Given the description of an element on the screen output the (x, y) to click on. 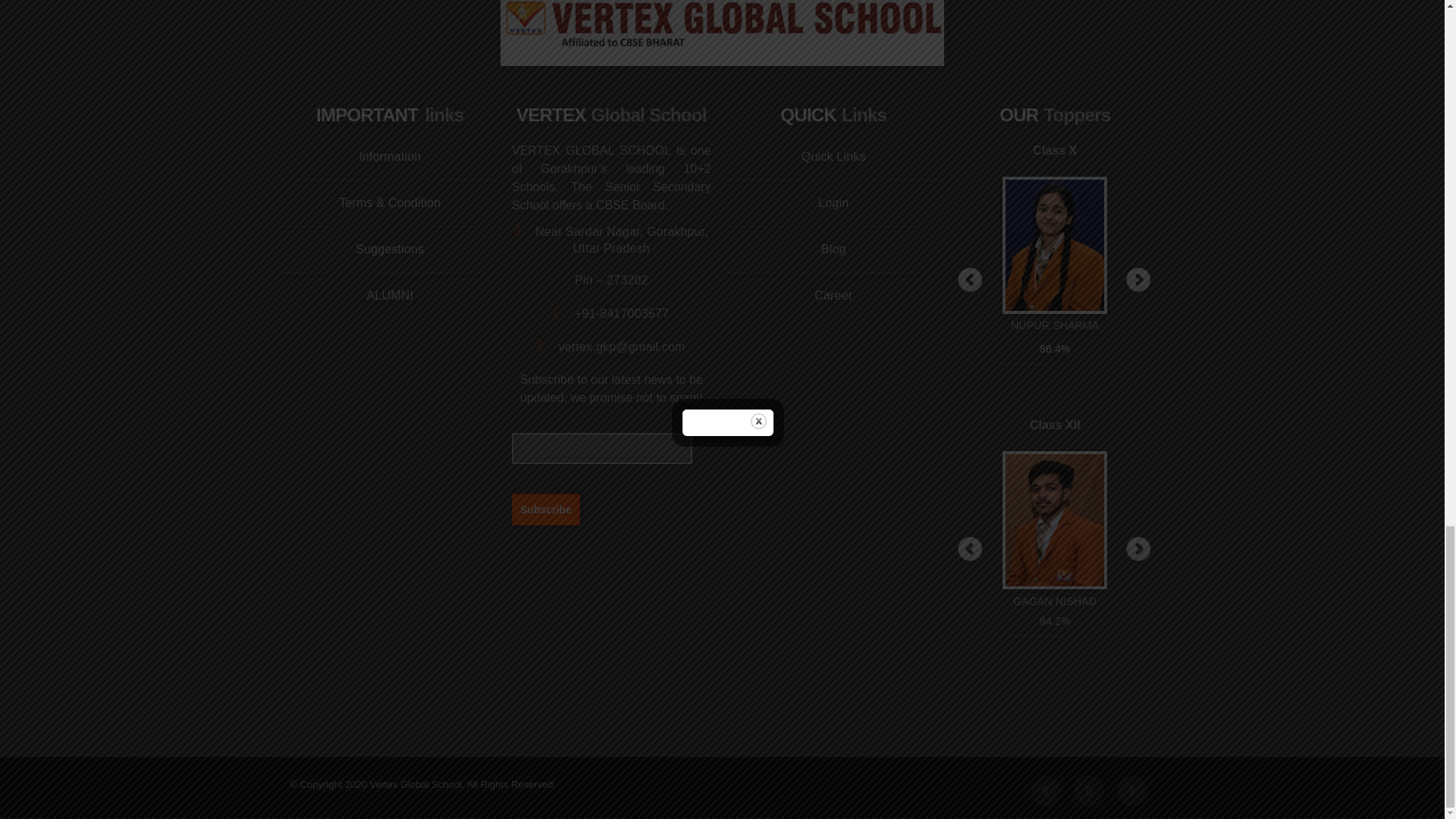
Subscribe (545, 508)
